Given the description of an element on the screen output the (x, y) to click on. 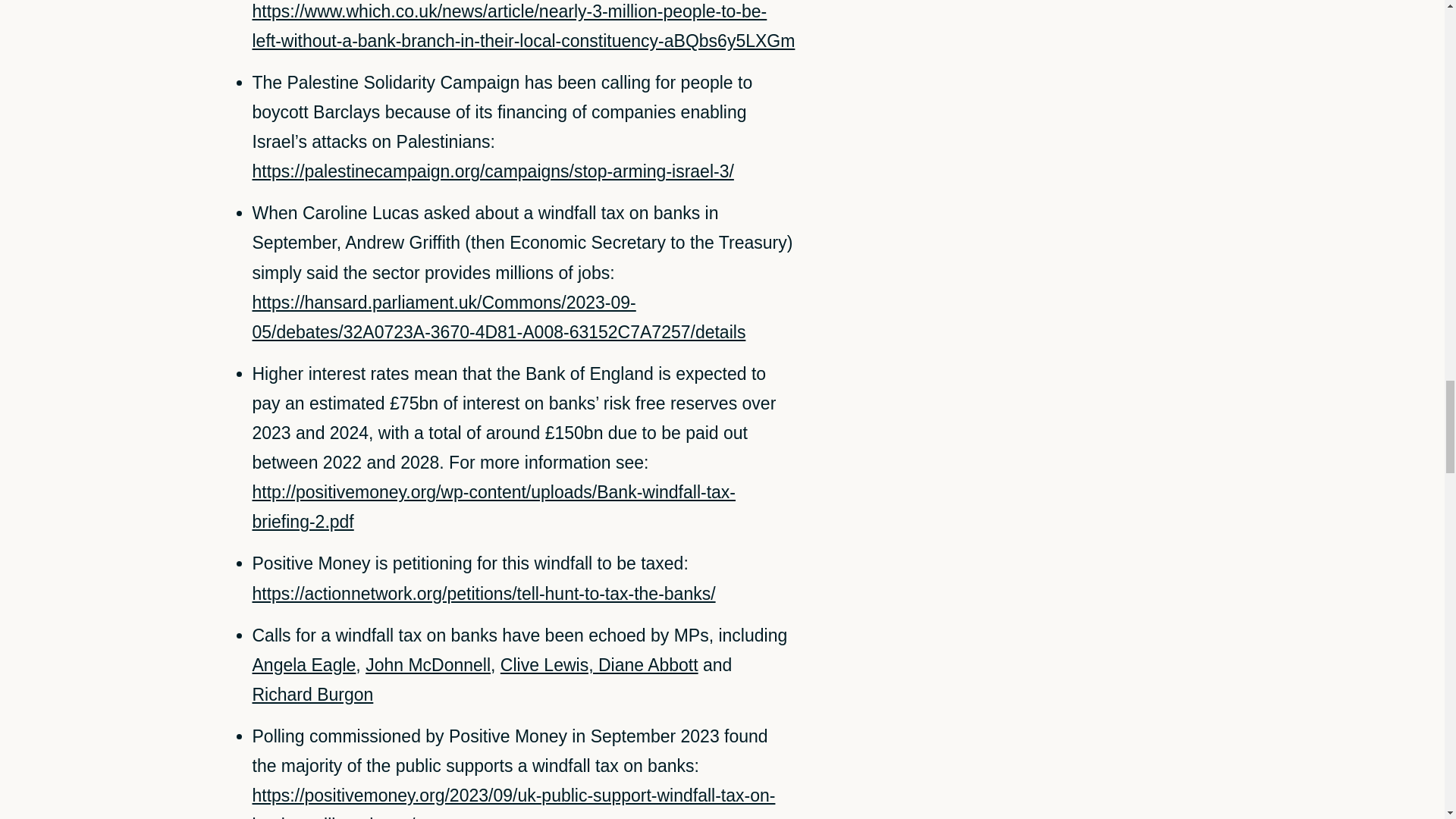
Clive Lewis, Diane Abbott (599, 664)
John McDonnell (427, 664)
Angela Eagle (303, 664)
Richard Burgon (311, 694)
